Given the description of an element on the screen output the (x, y) to click on. 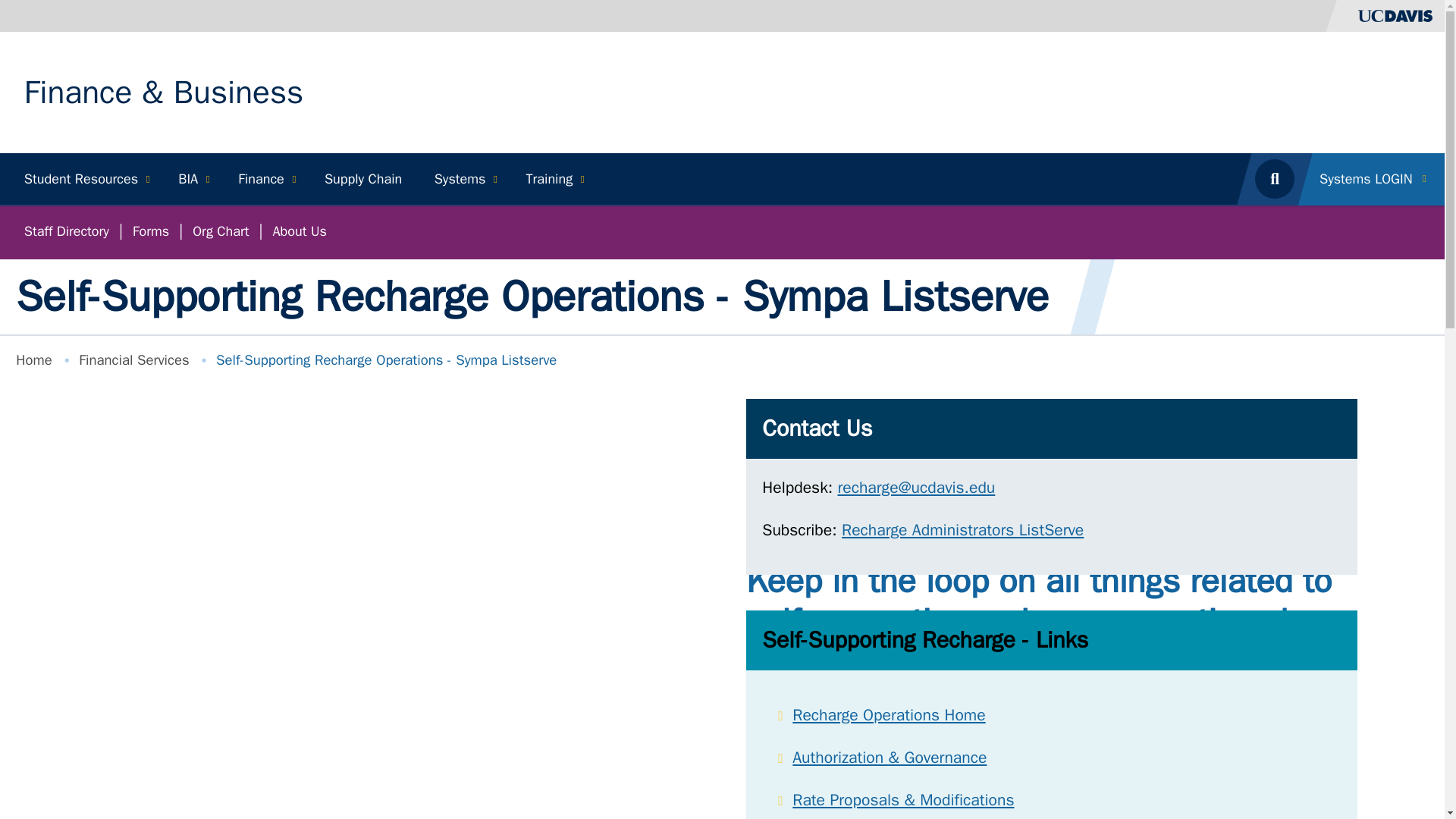
Home (163, 92)
Finance and Business Training (553, 179)
Student Resources (85, 179)
